Given the description of an element on the screen output the (x, y) to click on. 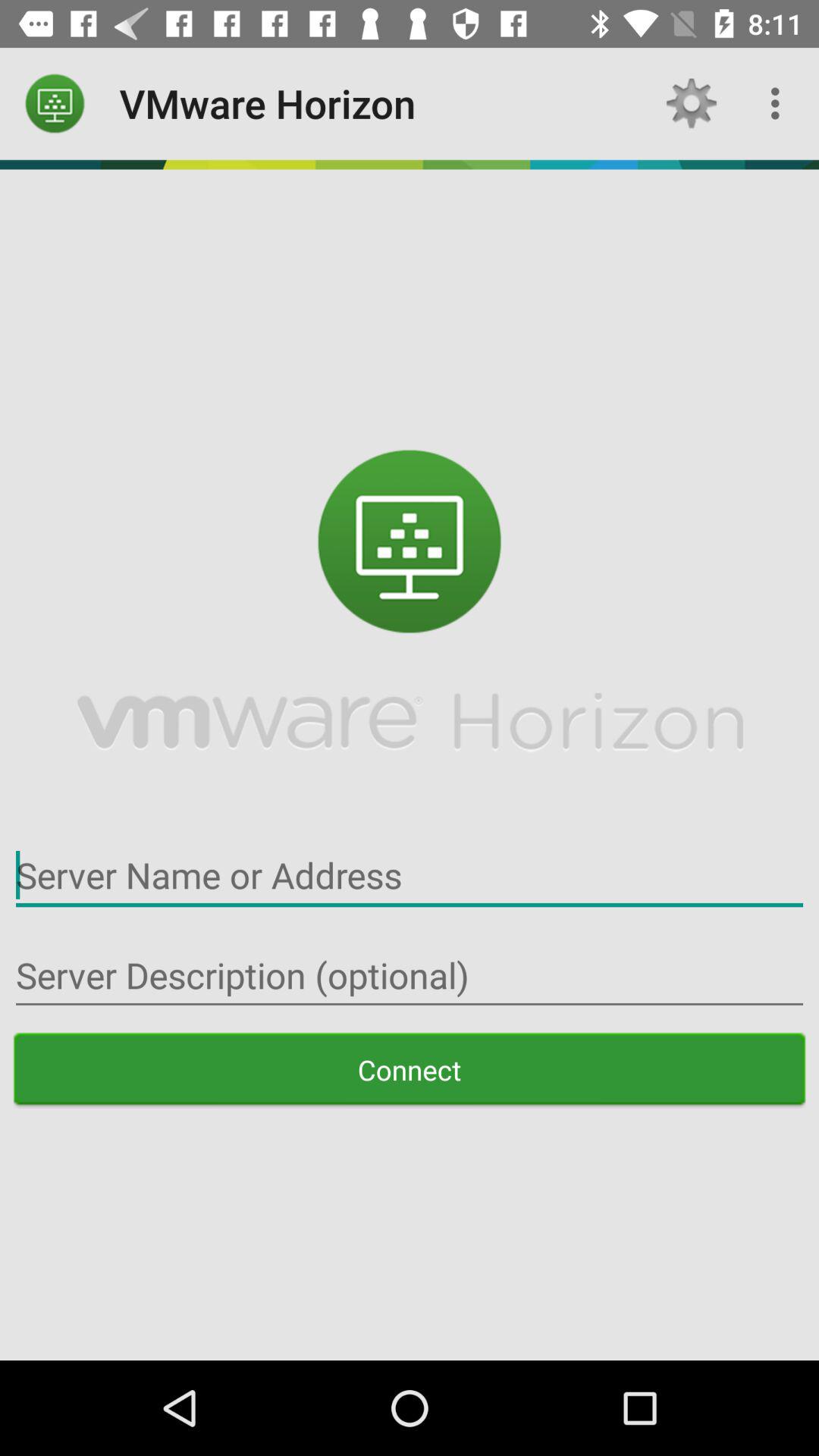
input server name or address (409, 875)
